Given the description of an element on the screen output the (x, y) to click on. 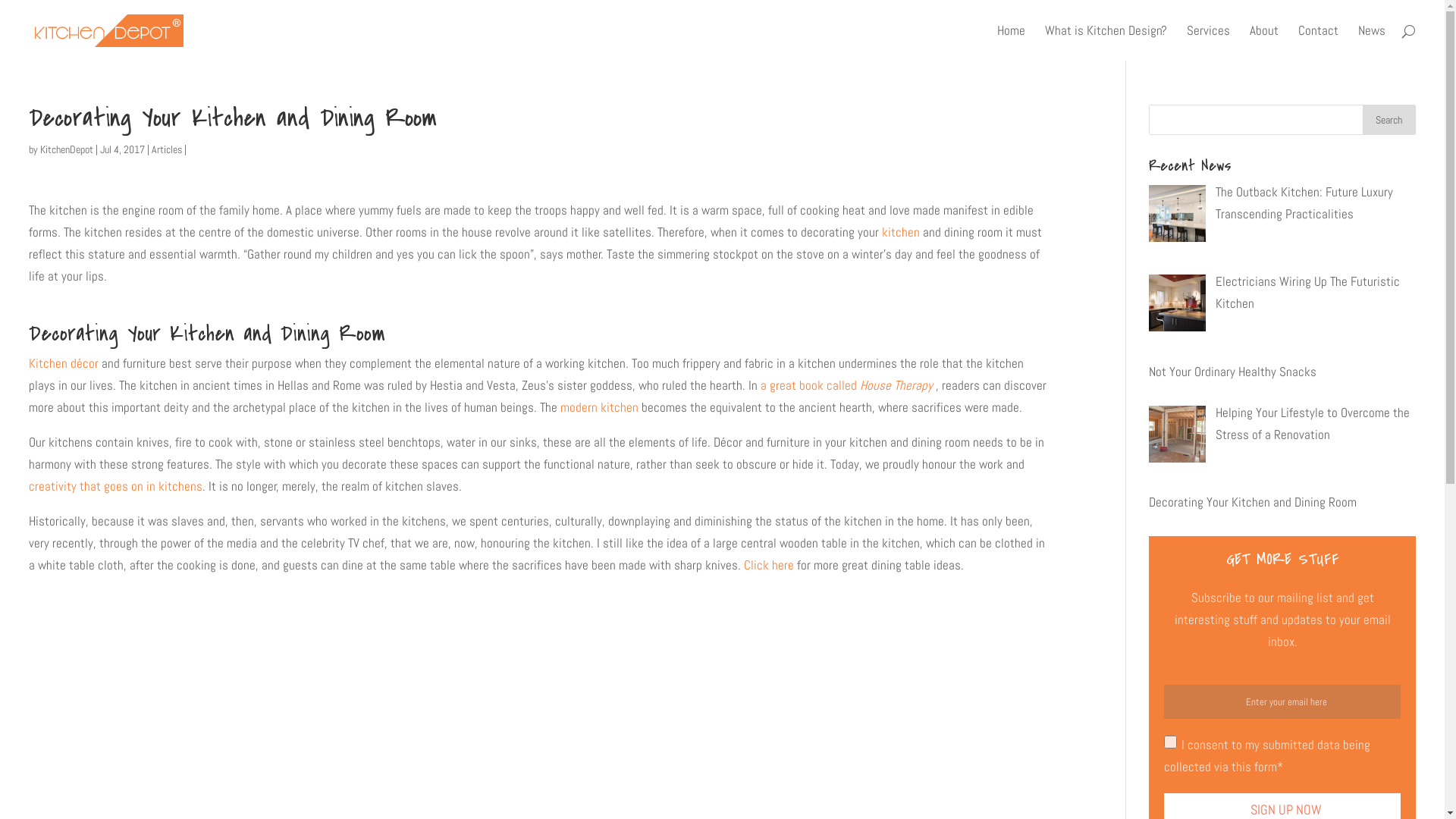
News Element type: text (1371, 42)
creativity that goes on in kitchens Element type: text (115, 485)
a great book called House Therapy Element type: text (846, 384)
Decorating Your Kitchen and Dining Room Element type: text (1252, 501)
modern kitchen Element type: text (599, 406)
Home Element type: text (1011, 42)
Search Element type: text (1388, 119)
Articles Element type: text (166, 149)
Click here Element type: text (768, 564)
kitchen Element type: text (900, 231)
Electricians Wiring Up The Futuristic Kitchen Element type: text (1307, 292)
Contact Element type: text (1318, 42)
What is Kitchen Design? Element type: text (1105, 42)
Services Element type: text (1208, 42)
Not Your Ordinary Healthy Snacks Element type: text (1232, 371)
KitchenDepot Element type: text (66, 149)
About Element type: text (1263, 42)
